Given the description of an element on the screen output the (x, y) to click on. 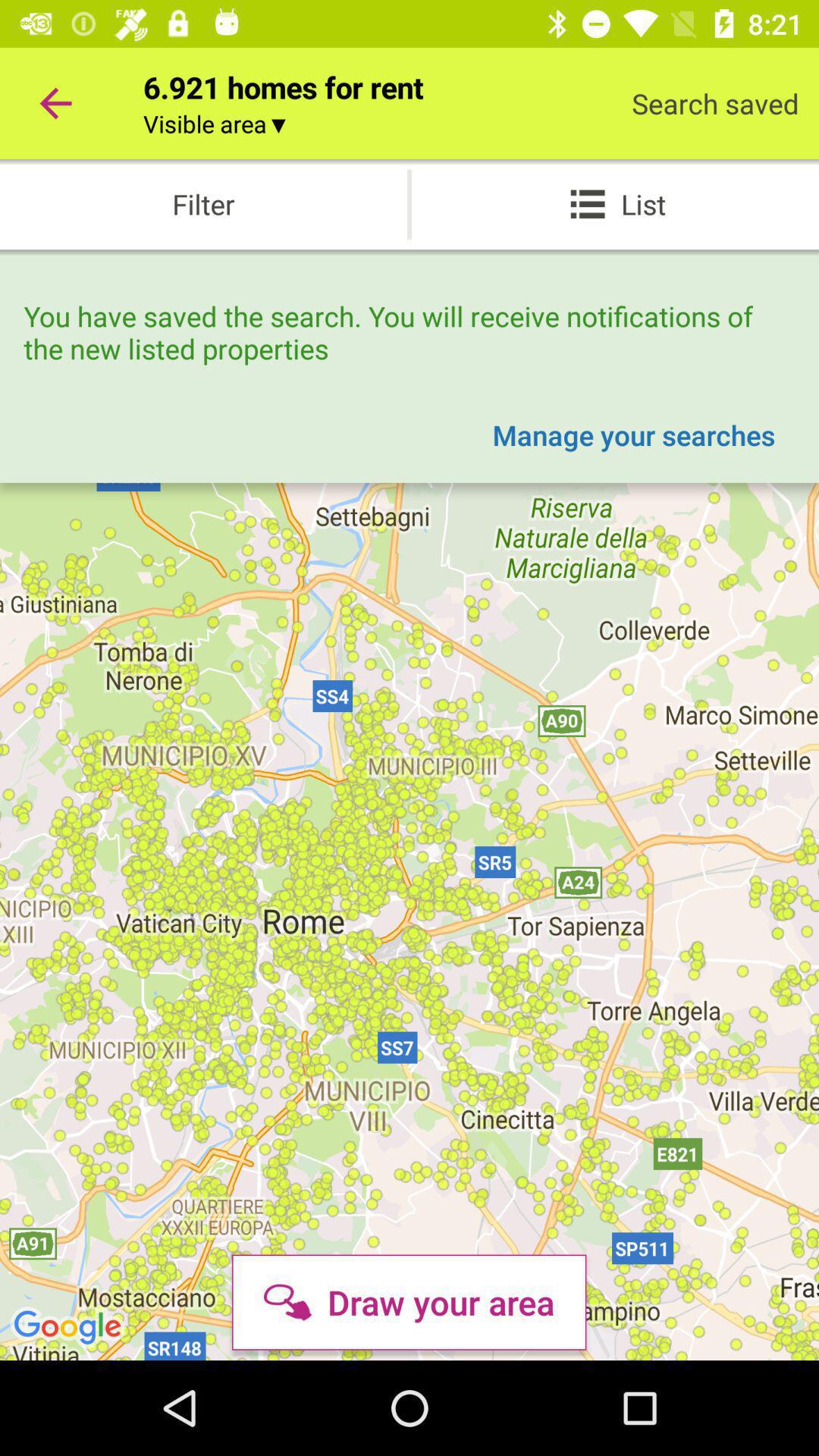
open draw your area (409, 1302)
